Given the description of an element on the screen output the (x, y) to click on. 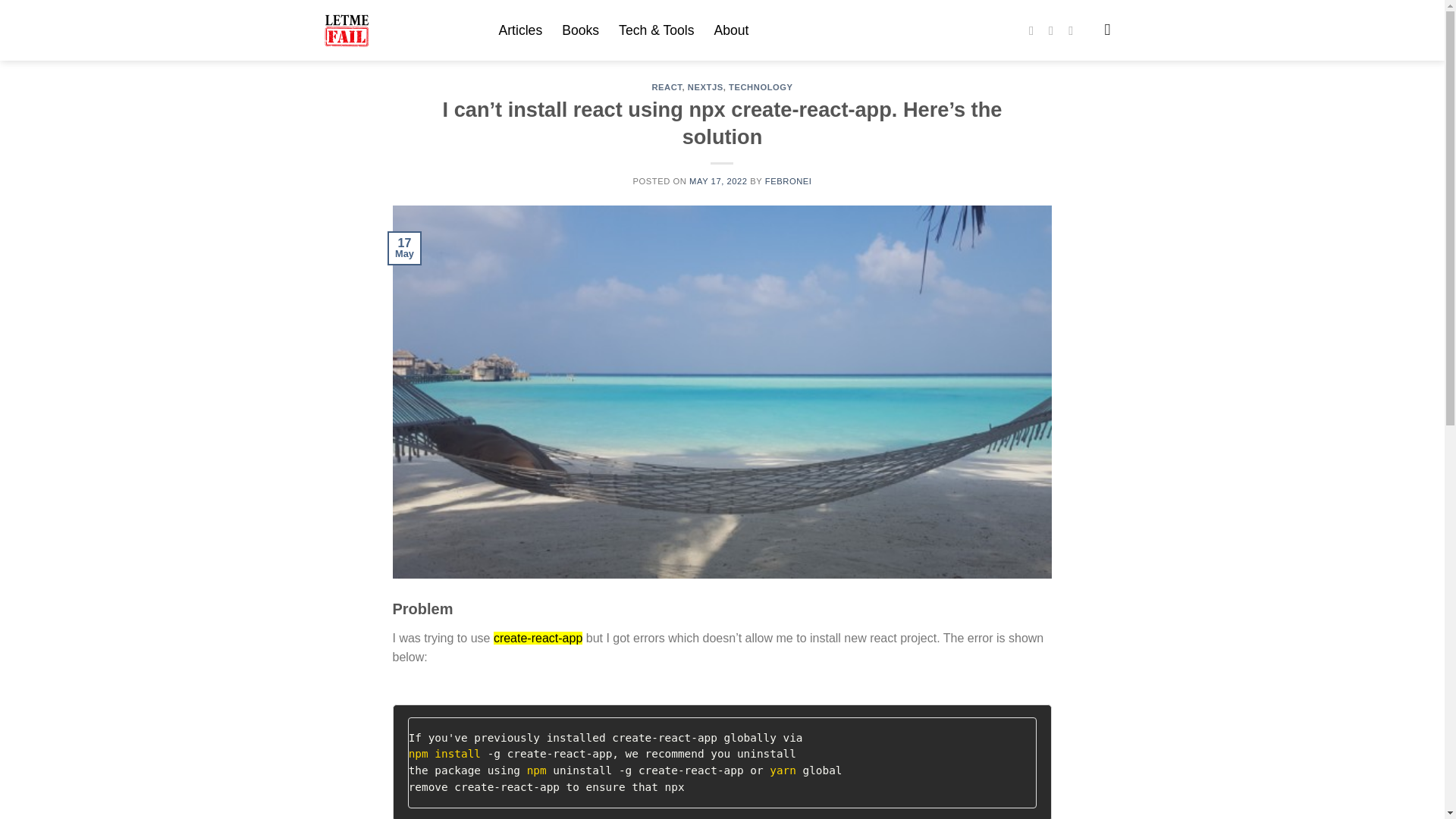
NEXTJS (705, 86)
MAY 17, 2022 (718, 180)
About (731, 29)
Let Me Fail - Let Me Fail (400, 30)
Articles (521, 29)
Books (580, 29)
REACT (665, 86)
FEBRONEI (788, 180)
TECHNOLOGY (761, 86)
